Given the description of an element on the screen output the (x, y) to click on. 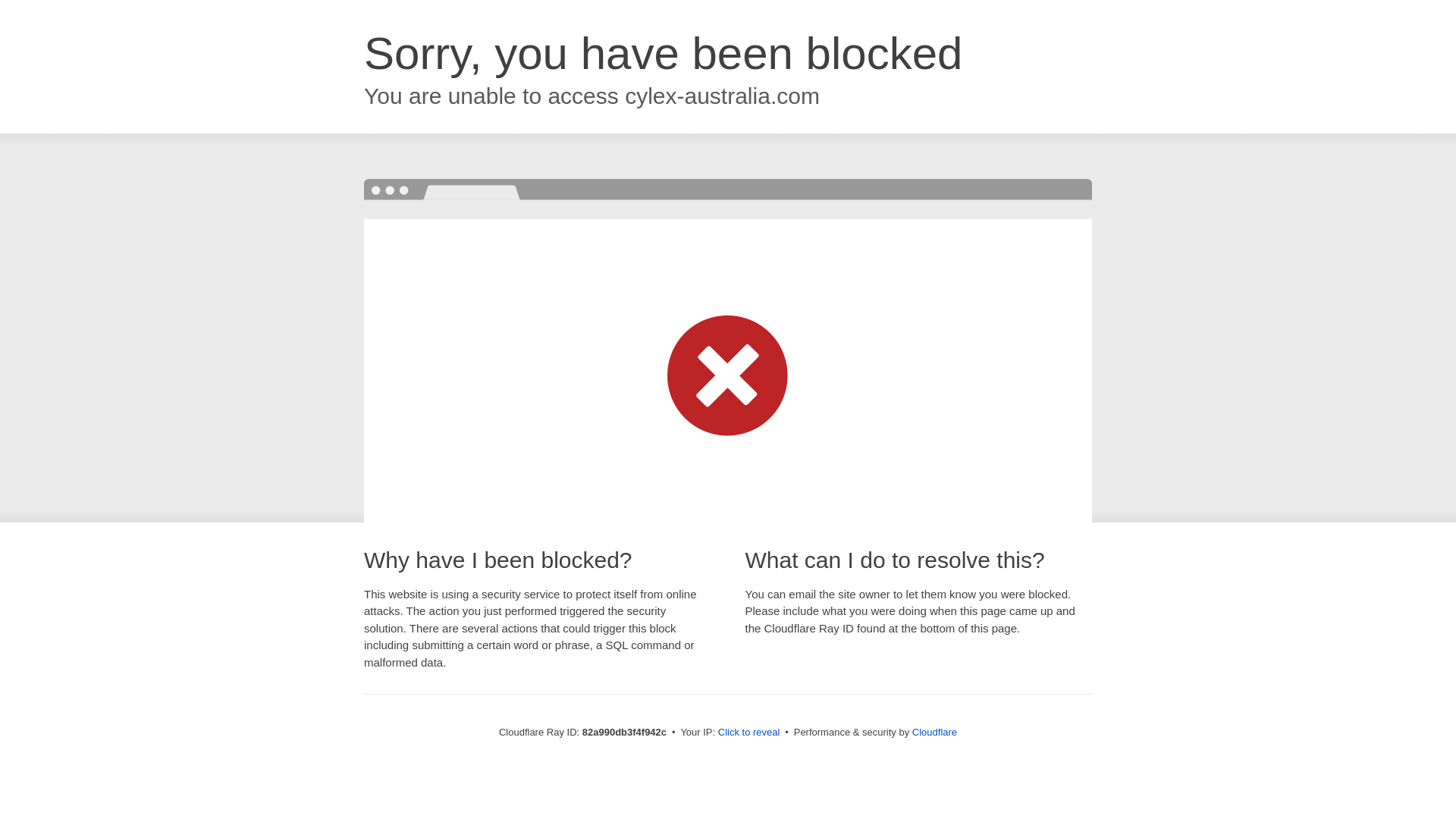
Click to reveal Element type: text (749, 732)
Cloudflare Element type: text (934, 731)
